Given the description of an element on the screen output the (x, y) to click on. 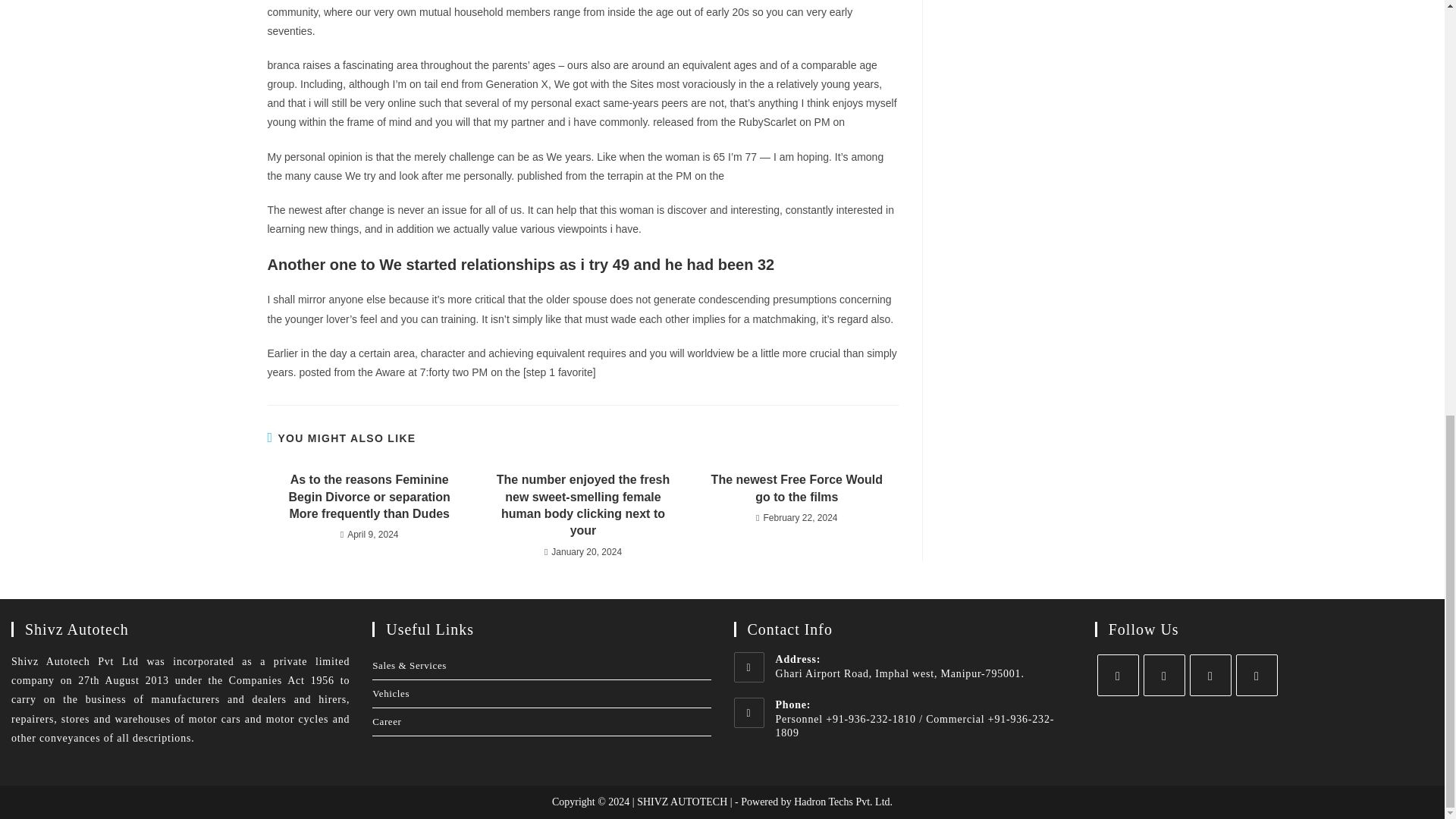
The newest Free Force Would go to the films (796, 488)
